Given the description of an element on the screen output the (x, y) to click on. 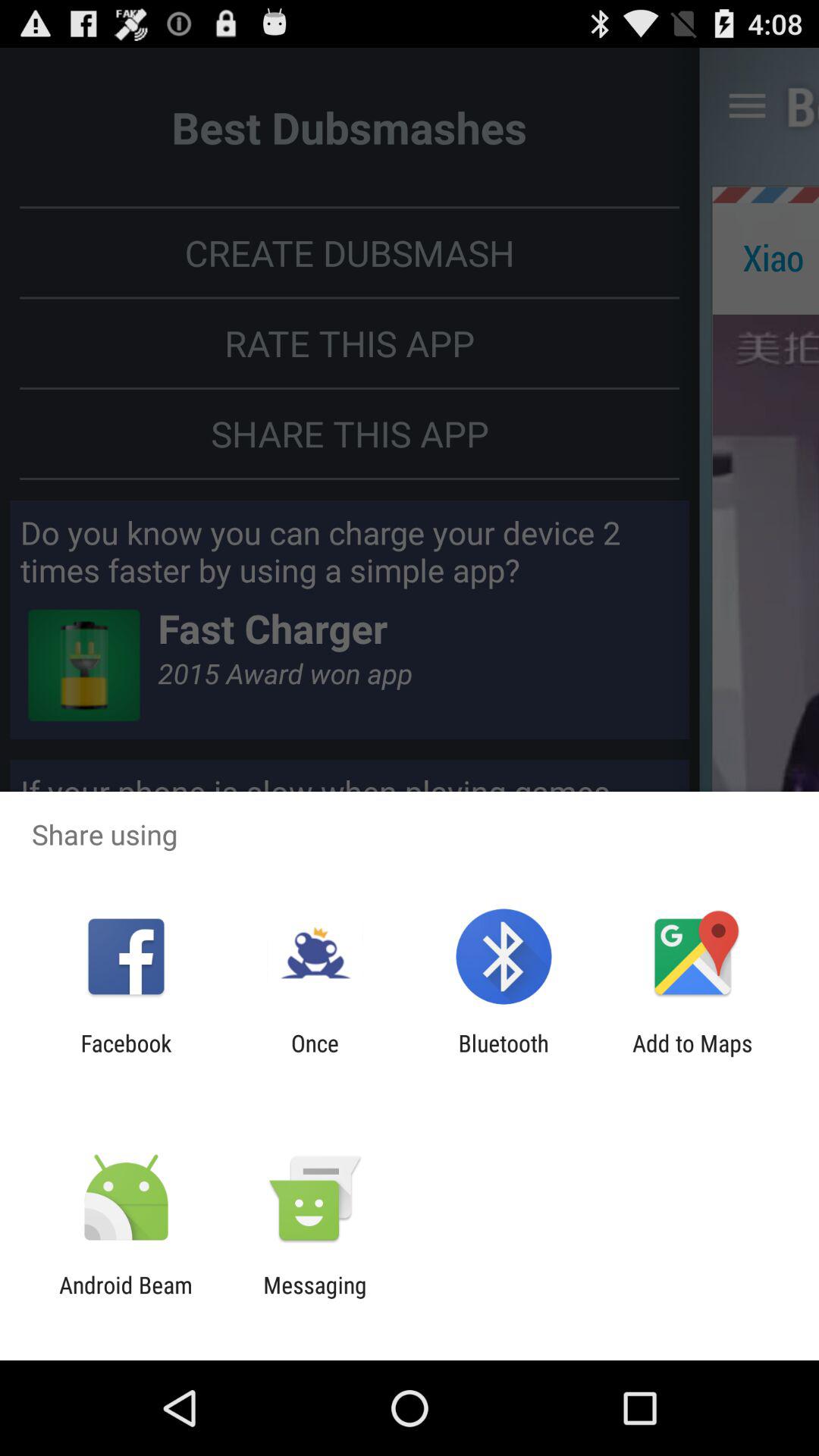
jump to messaging app (314, 1298)
